Given the description of an element on the screen output the (x, y) to click on. 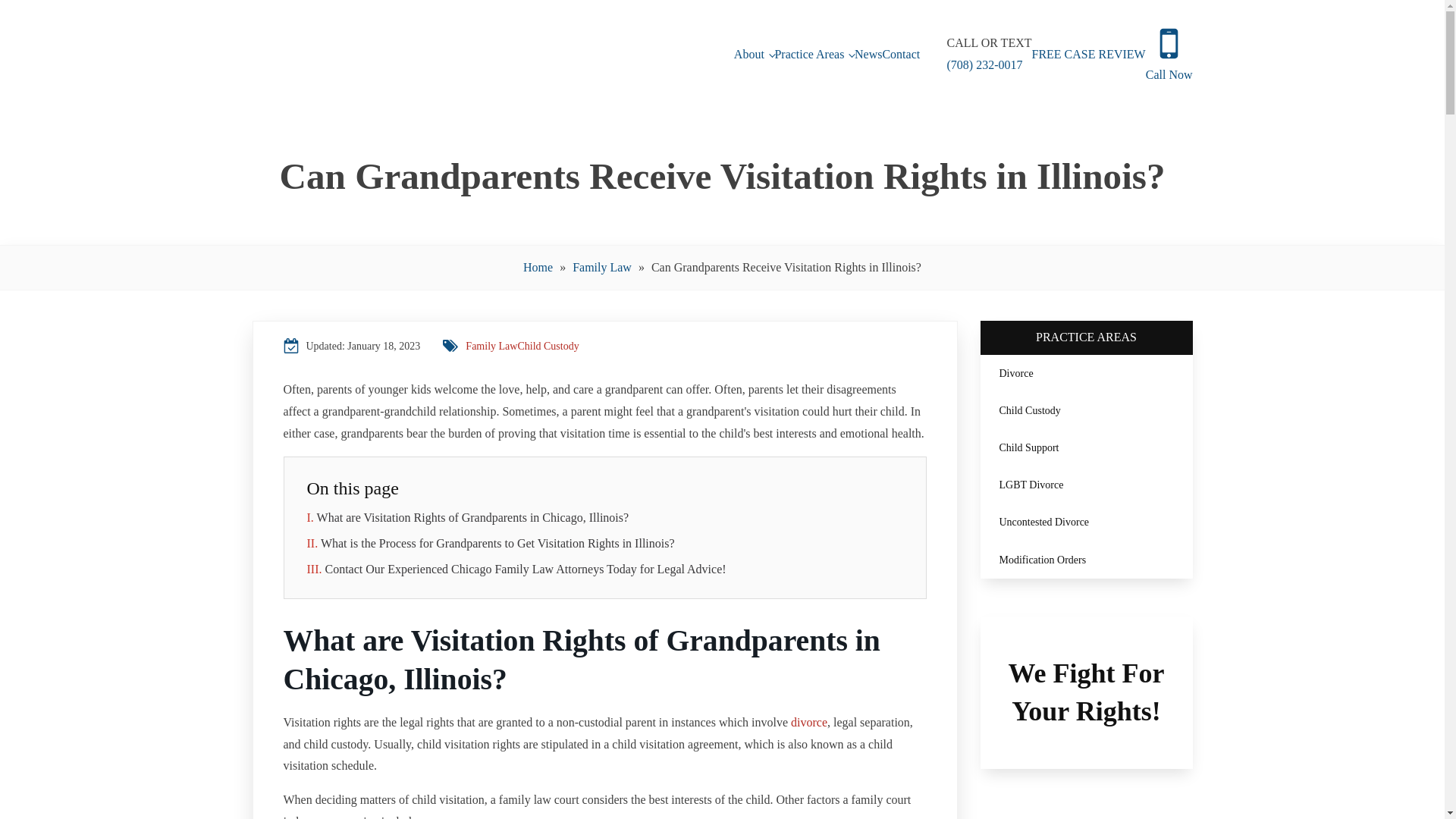
FREE CASE REVIEW (1087, 55)
Divorce (1085, 373)
Child Support (1085, 447)
divorce (808, 721)
Uncontested Divorce (1085, 521)
Family Law (490, 346)
